Given the description of an element on the screen output the (x, y) to click on. 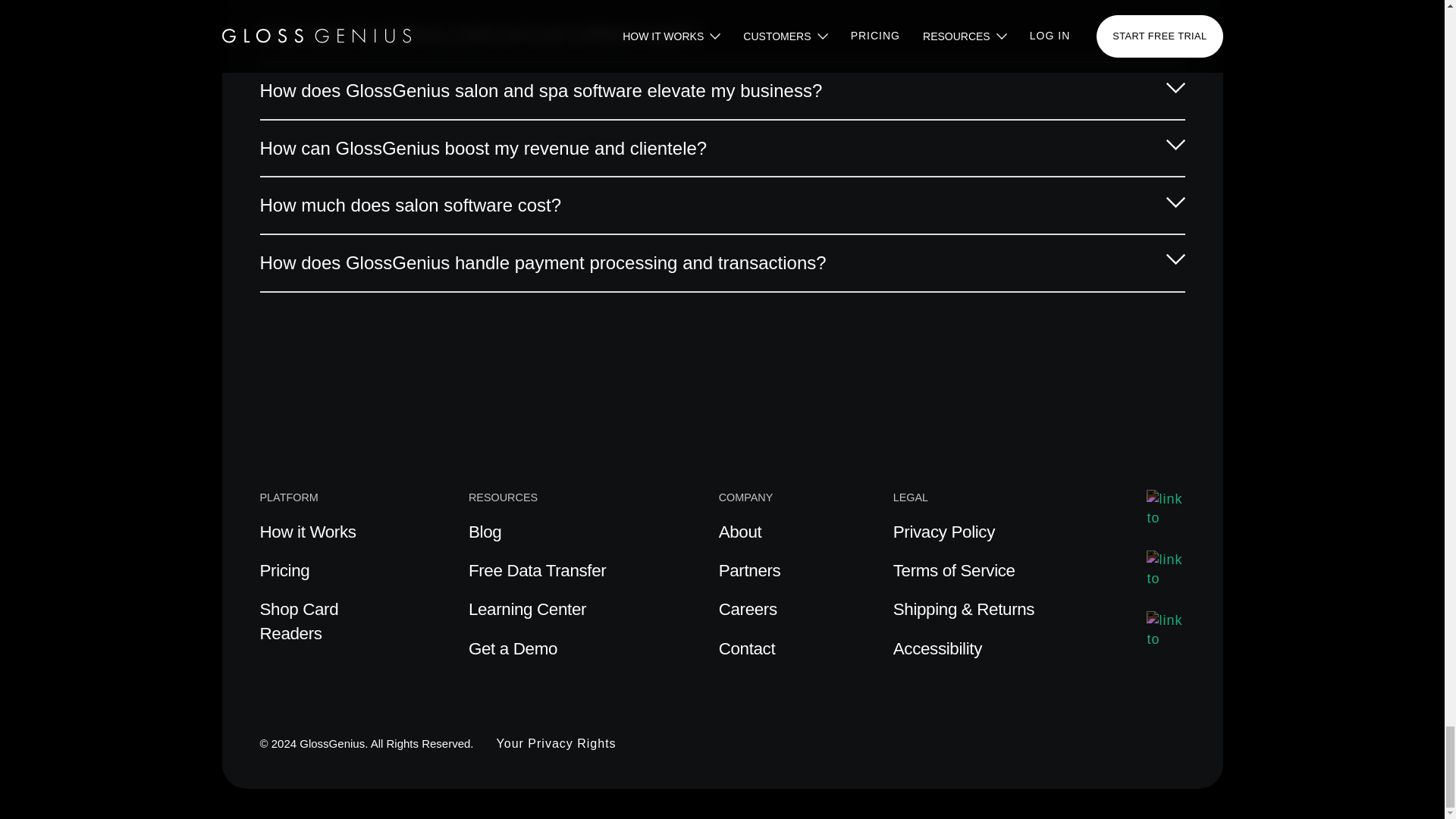
GlossGenius Instagram (1166, 569)
GlossGenius X Twitter (1166, 508)
GlossGenius Facebook (1166, 629)
